Given the description of an element on the screen output the (x, y) to click on. 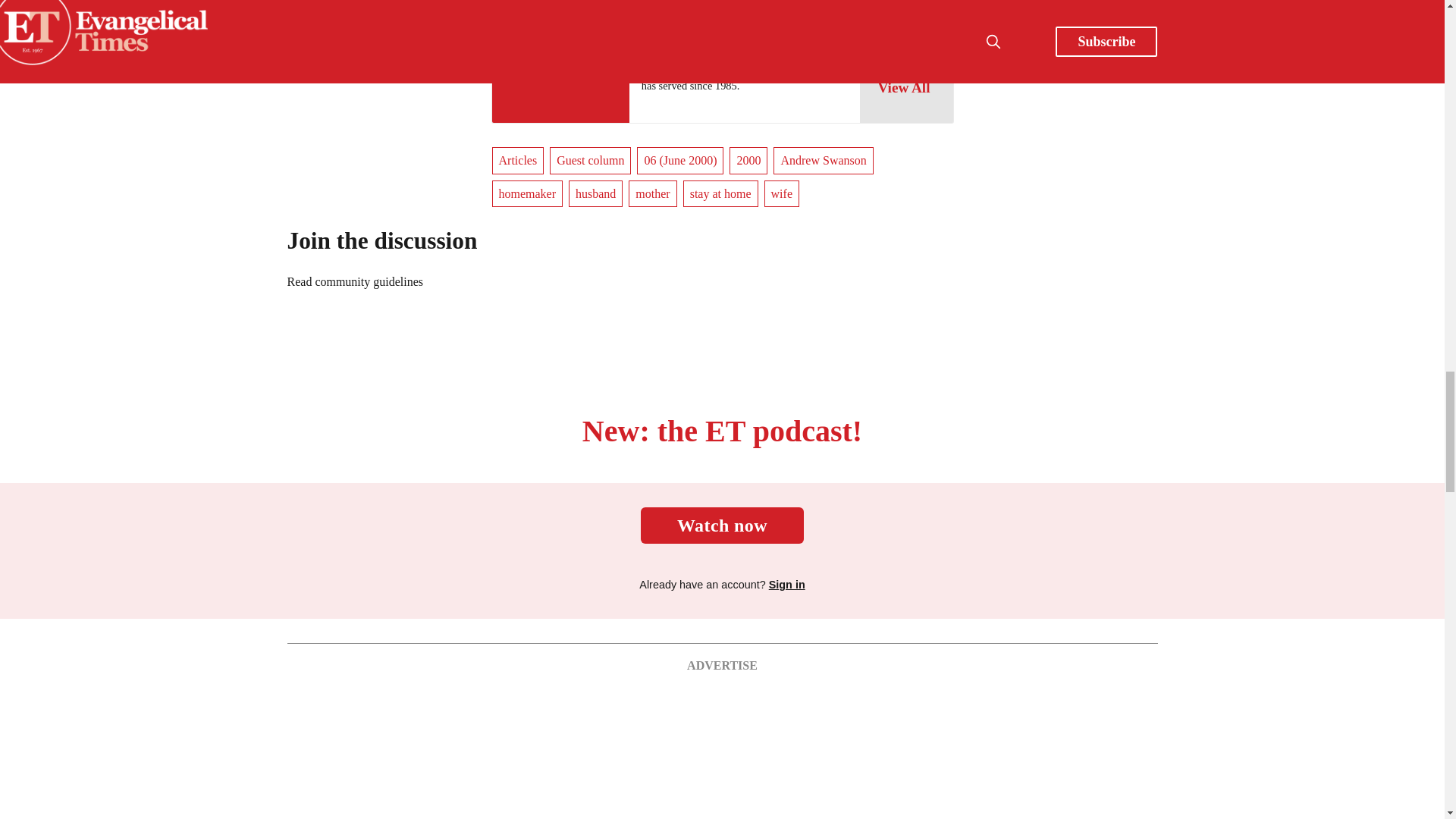
Andrew Swanson (822, 160)
Andrew Swanson (687, 11)
2000 (748, 160)
View All (905, 87)
Articles (517, 160)
Guest column (590, 160)
